Given the description of an element on the screen output the (x, y) to click on. 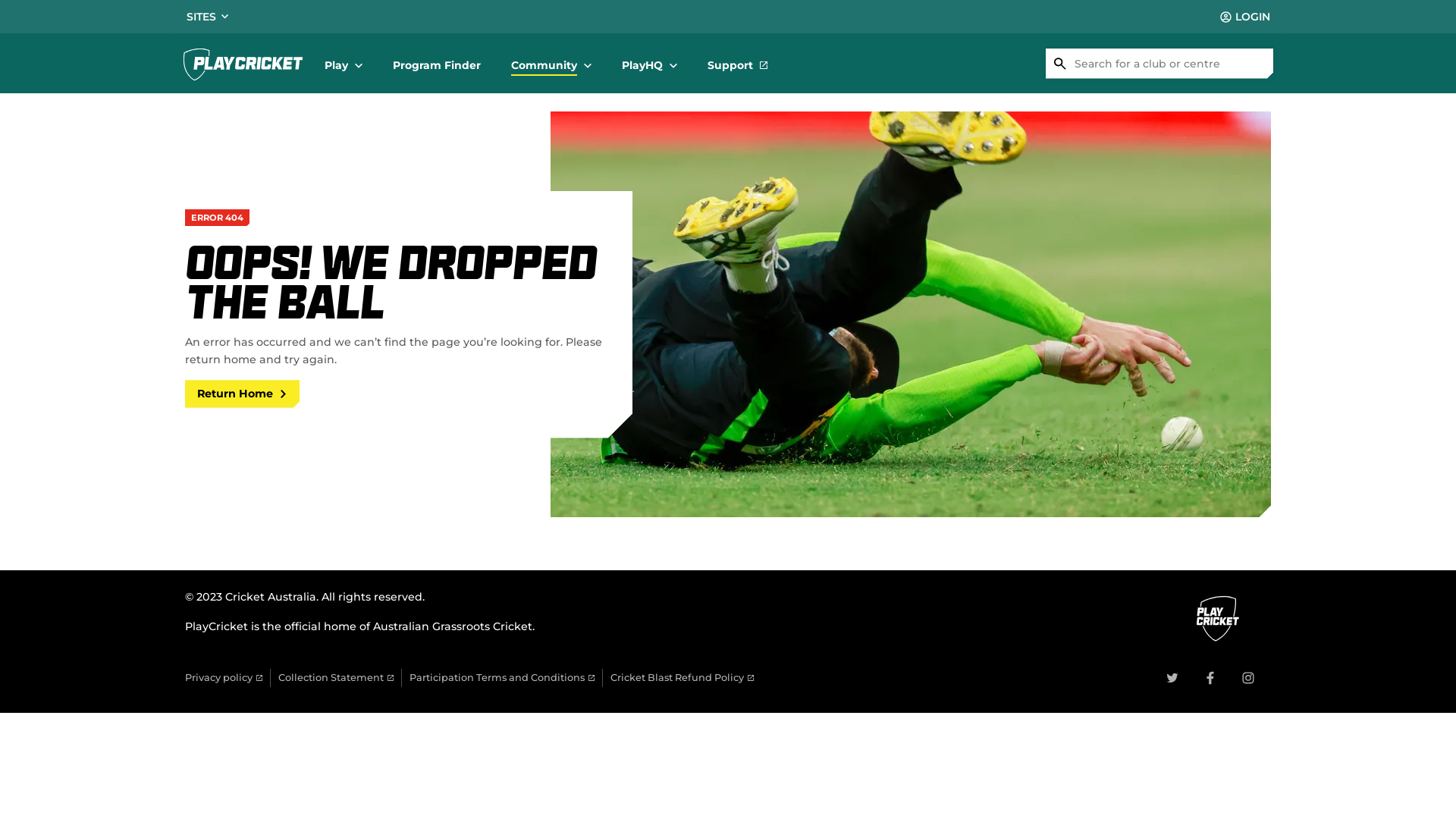
Program Finder Element type: text (436, 63)
Collection Statement
(opens new window) Element type: text (335, 677)
Privacy policy
(opens new window) Element type: text (223, 677)
instagram Element type: text (1247, 677)
PlayCricket Shield Logo - Horiztonal Element type: hover (242, 63)
twitter Element type: text (1171, 677)
Support
(opens new window) Element type: text (737, 63)
facebook Element type: text (1209, 677)
Community Element type: text (550, 63)
Cricket Blast Refund Policy
(opens new window) Element type: text (681, 677)
PlayHQ Element type: text (649, 63)
Participation Terms and Conditions
(opens new window) Element type: text (501, 677)
Return Home Element type: text (242, 393)
Play Element type: text (343, 63)
